Given the description of an element on the screen output the (x, y) to click on. 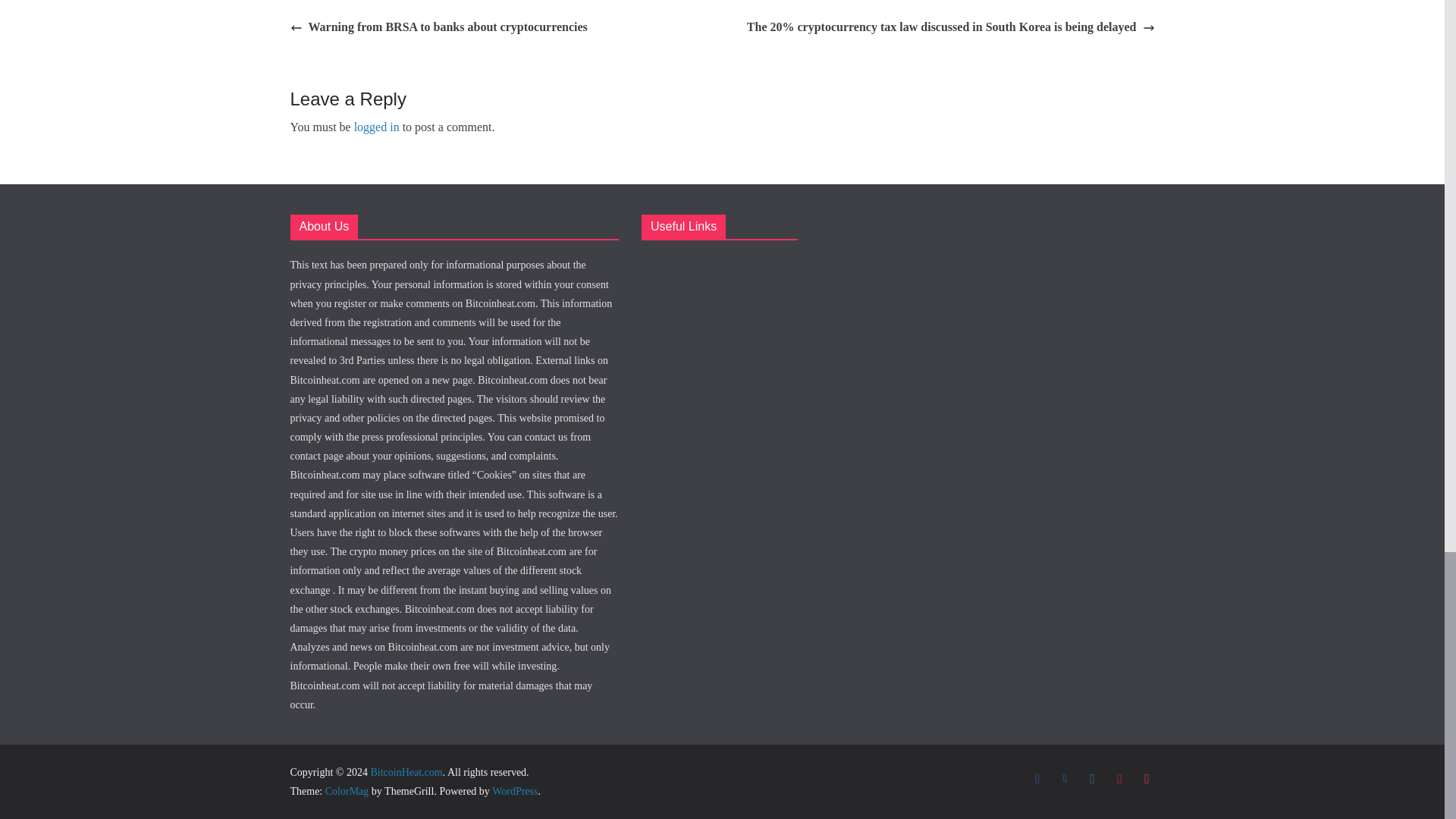
BitcoinHeat.com (405, 772)
logged in (375, 126)
WordPress (514, 790)
BitcoinHeat.com (405, 772)
WordPress (514, 790)
ColorMag (346, 790)
Warning from BRSA to banks about cryptocurrencies (437, 27)
ColorMag (346, 790)
